Given the description of an element on the screen output the (x, y) to click on. 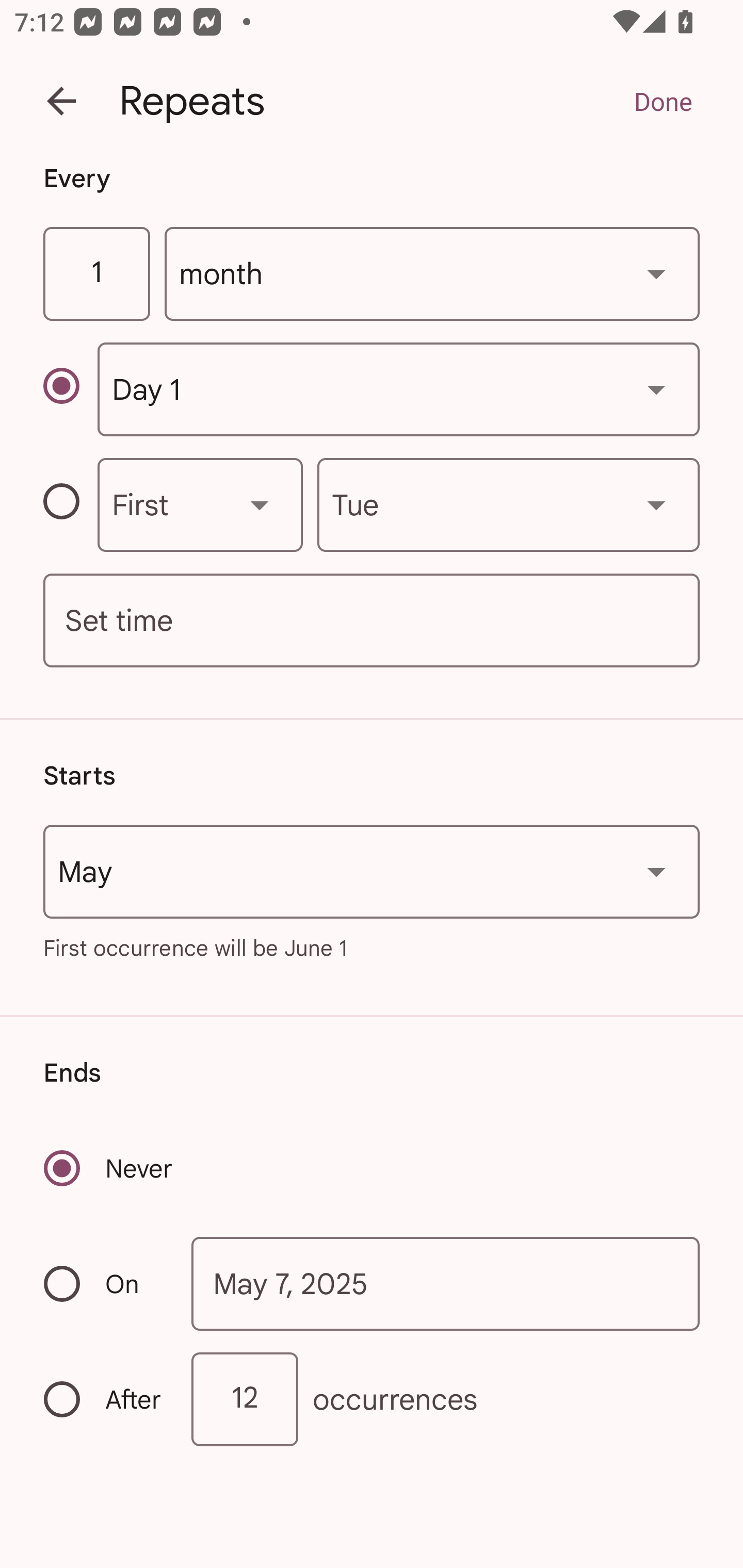
Back (61, 101)
Done (663, 101)
1 (96, 274)
month (431, 274)
Show dropdown menu (655, 273)
Day 1 (398, 388)
Show dropdown menu (655, 389)
Repeat monthly on a specific day of the month (70, 389)
First (200, 504)
Tue (508, 504)
Show dropdown menu (259, 504)
Show dropdown menu (655, 504)
Repeat monthly on a specific weekday (70, 504)
Set time (371, 620)
May (371, 871)
Show dropdown menu (655, 871)
Never Recurrence never ends (109, 1168)
May 7, 2025 (445, 1284)
On Recurrence ends on a specific date (104, 1283)
12 (244, 1398)
